Given the description of an element on the screen output the (x, y) to click on. 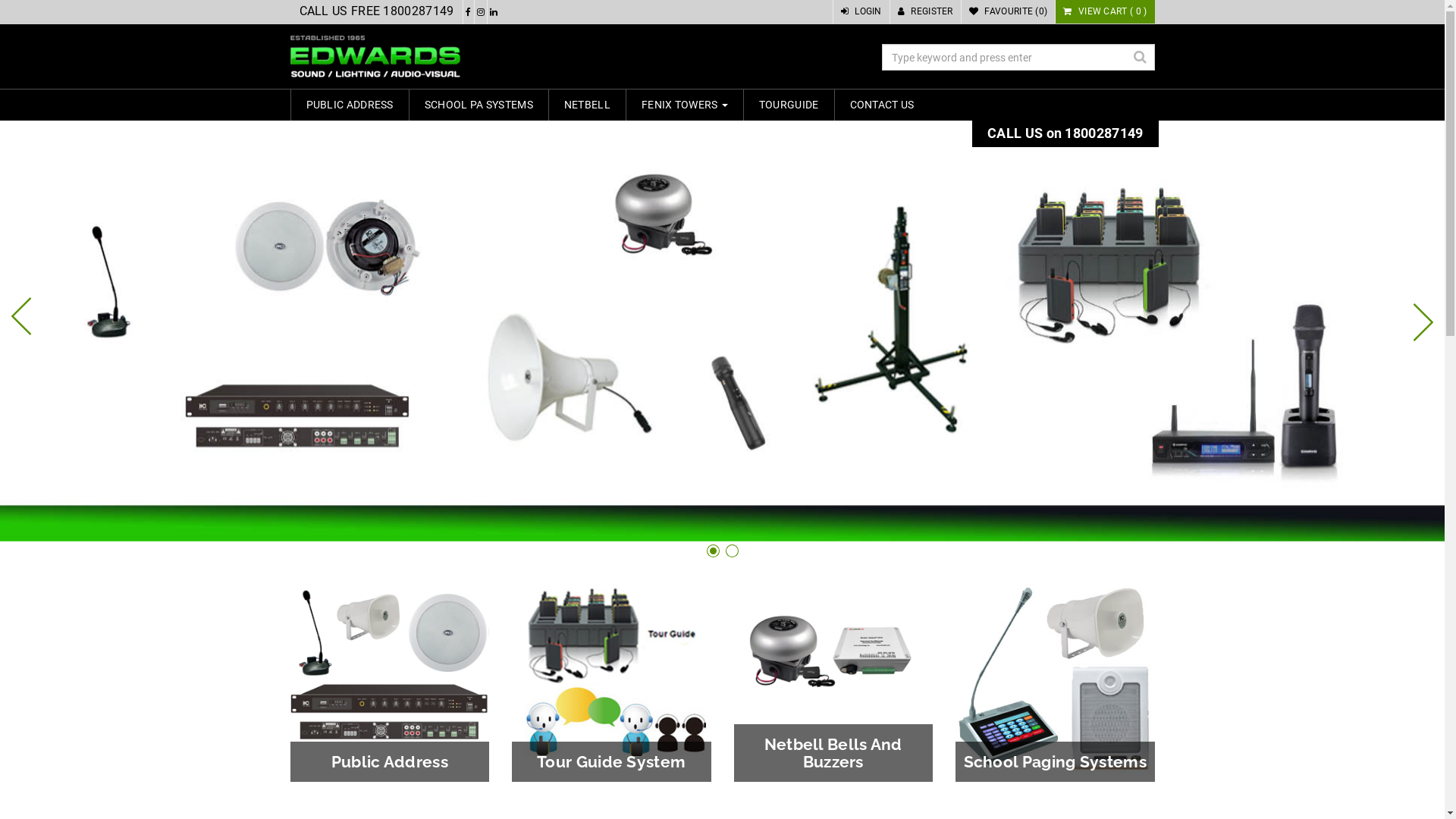
FENIX TOWERS Element type: text (684, 104)
CONTACT US Element type: text (881, 104)
SCHOOL PA SYSTEMS Element type: text (478, 104)
FAVOURITE (0) Element type: text (1008, 11)
Follow Edwards Sound on Instagram Element type: hover (480, 12)
Follow Edwards Sound on LinkedIn Element type: hover (493, 12)
Like Edwards Sound on Facebook Element type: hover (468, 12)
TOURGUIDE Element type: text (788, 104)
PUBLIC ADDRESS Element type: text (349, 104)
REGISTER Element type: text (925, 11)
VIEW CART ( 0 ) Element type: text (1104, 11)
NETBELL Element type: text (587, 104)
CALL US FREE 1800287149 Element type: text (375, 11)
LOGIN Element type: text (861, 11)
CALL US on 1800287149 Element type: text (1064, 133)
